Given the description of an element on the screen output the (x, y) to click on. 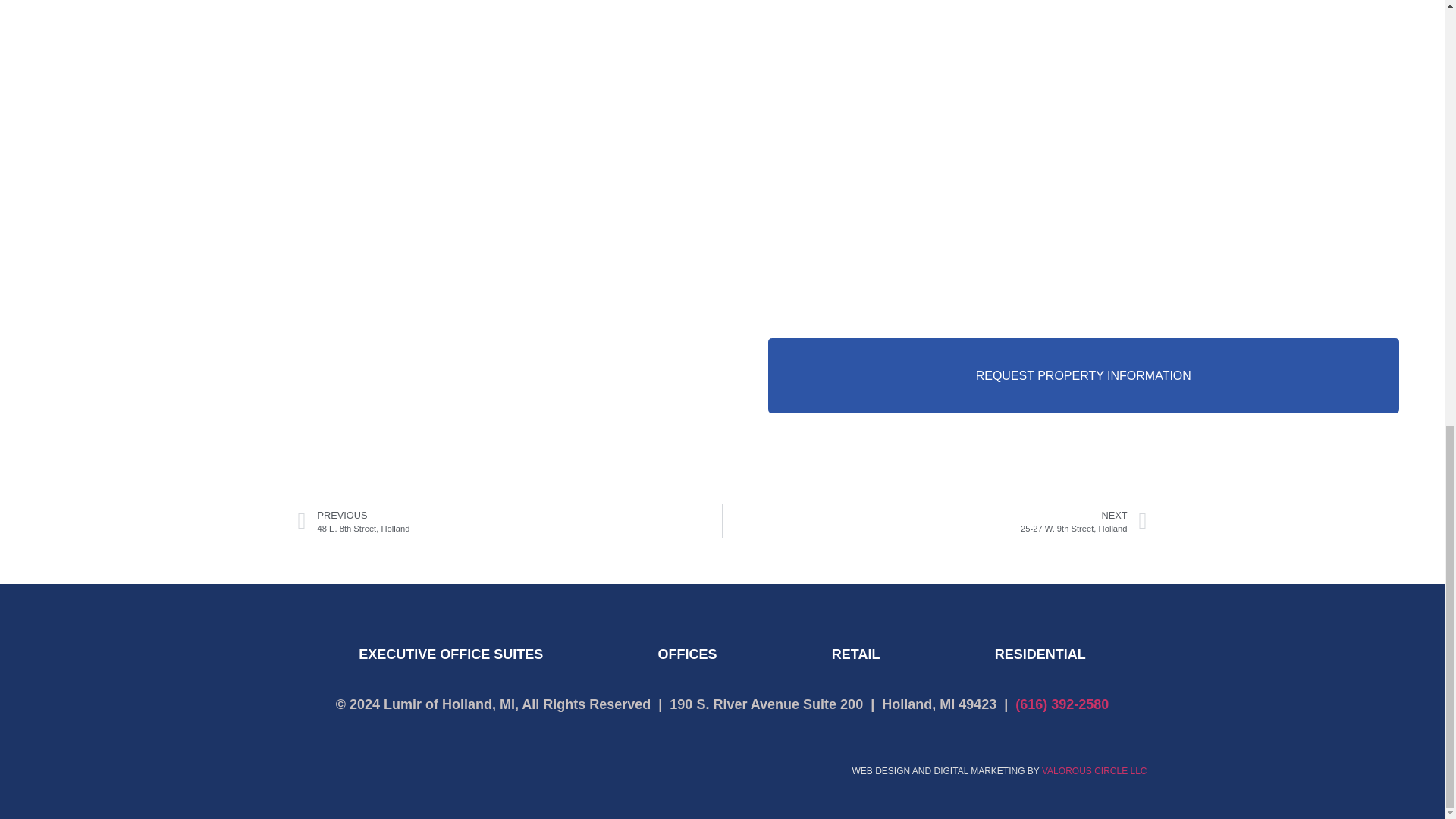
VALOROUS CIRCLE LLC (1094, 770)
EXECUTIVE OFFICE SUITES (449, 654)
REQUEST PROPERTY INFORMATION (934, 521)
RESIDENTIAL (1083, 375)
RETAIL (1039, 654)
OFFICES (855, 654)
